Given the description of an element on the screen output the (x, y) to click on. 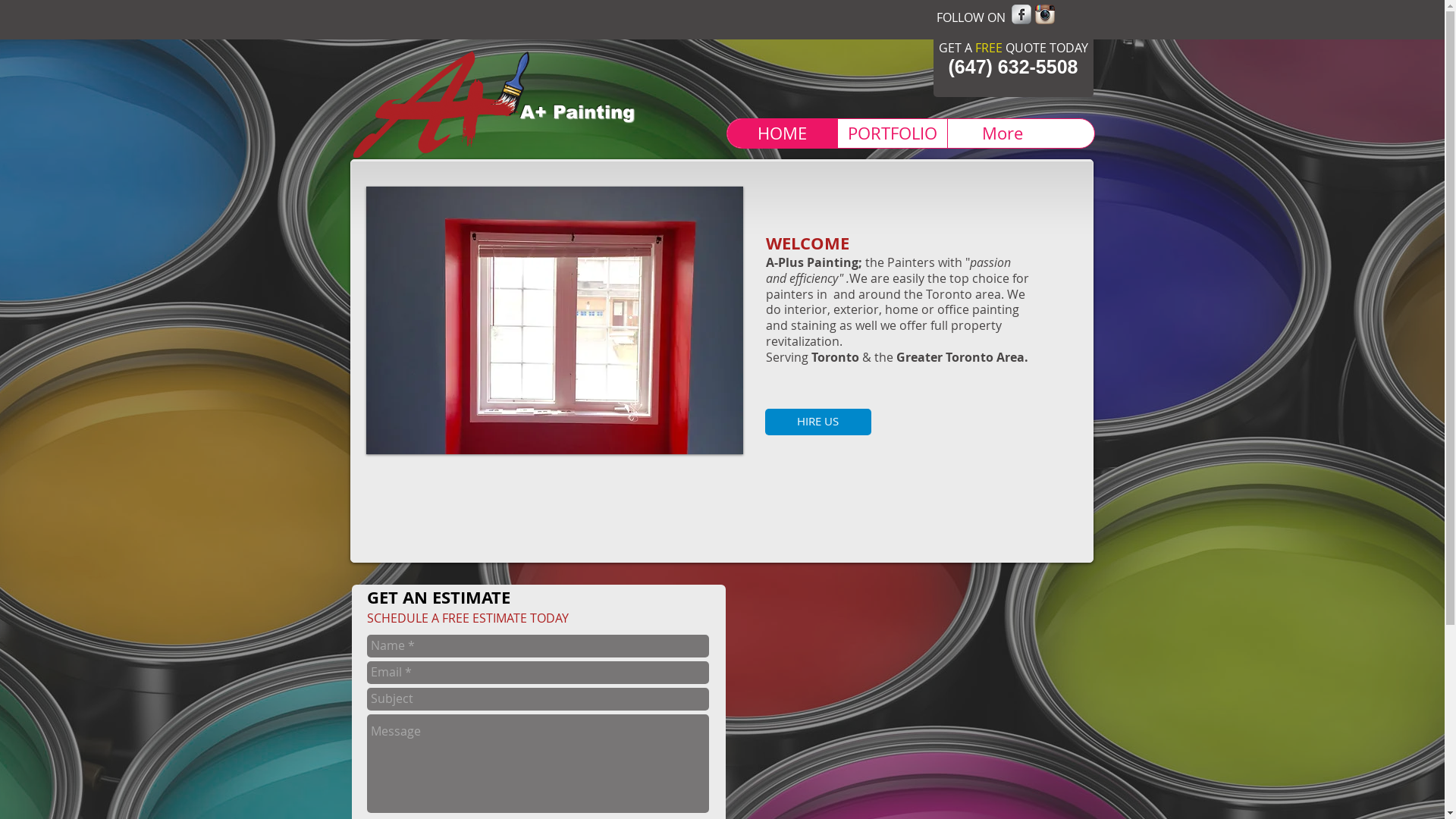
HIRE US Element type: text (817, 421)
HOME Element type: text (781, 133)
PORTFOLIO Element type: text (892, 133)
